Given the description of an element on the screen output the (x, y) to click on. 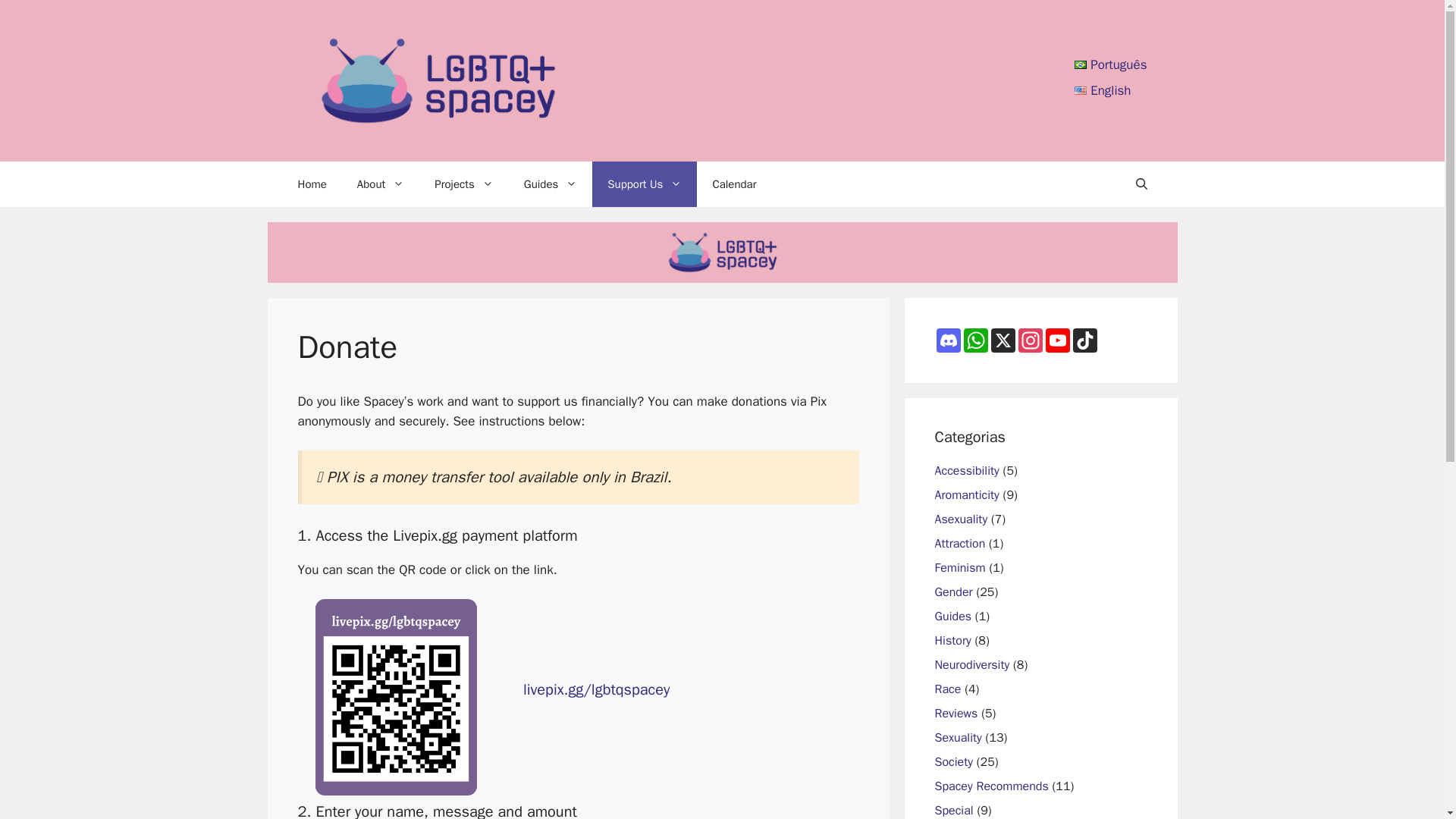
Calendar (734, 184)
Projects (463, 184)
English (1102, 89)
Discord (947, 340)
Support Us (644, 184)
About (380, 184)
X (1002, 340)
Instagram (1029, 340)
Guides (550, 184)
WhatsApp (974, 340)
